Given the description of an element on the screen output the (x, y) to click on. 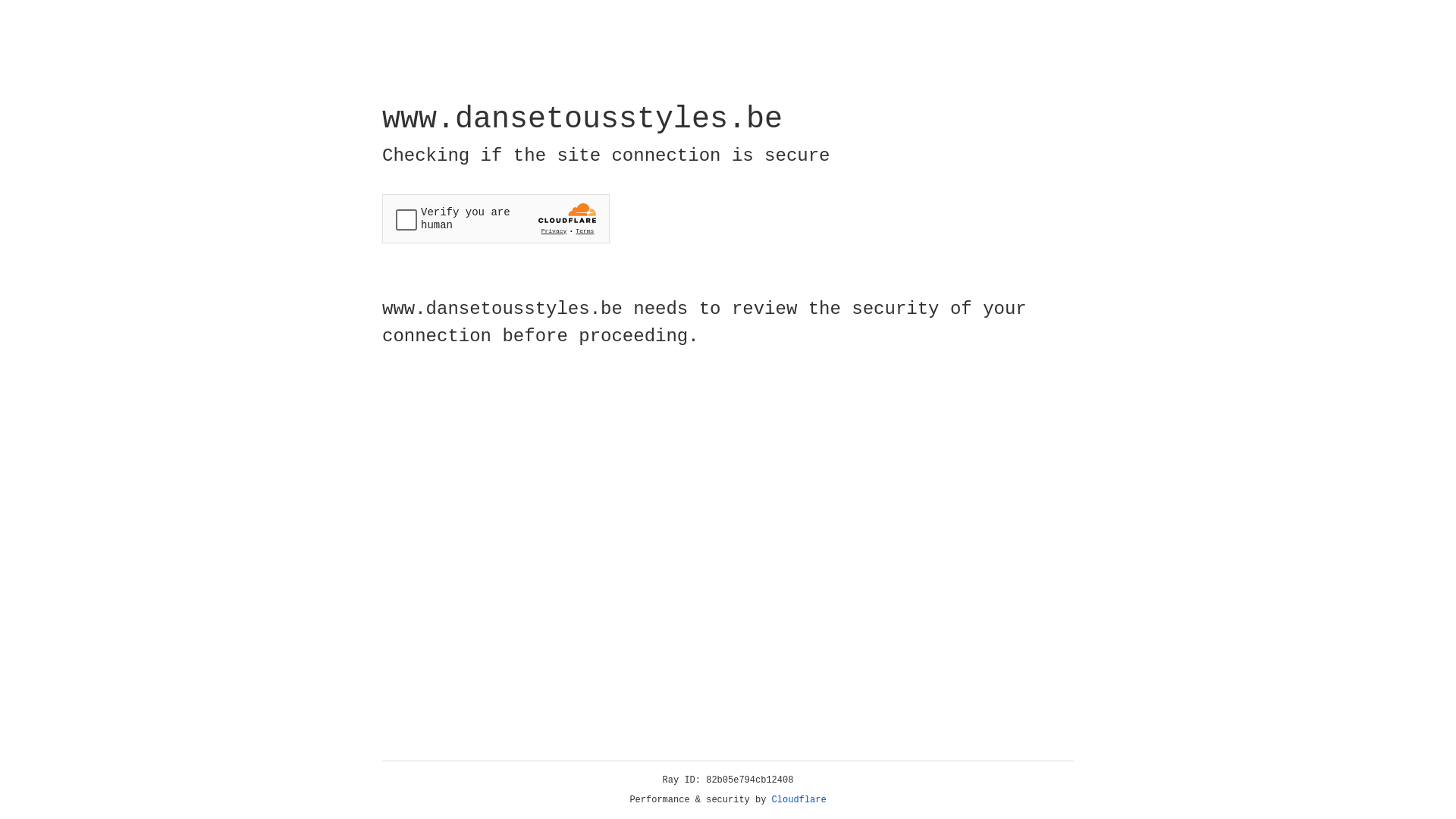
Cloudflare Element type: text (798, 799)
Widget containing a Cloudflare security challenge Element type: hover (495, 218)
